Given the description of an element on the screen output the (x, y) to click on. 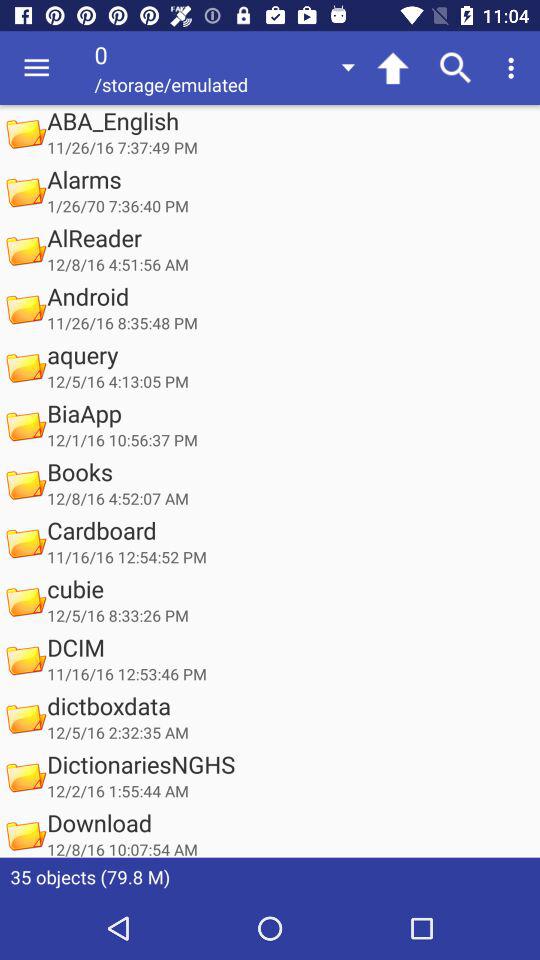
click on the search option (456, 68)
go to the icon left to the text aquery (25, 367)
click on the icon left to the dcim (25, 660)
click on the icon left to the text dictboxdata (25, 718)
click on the icon left to the icon search (392, 68)
click on more options button to the right of search option (514, 68)
